Given the description of an element on the screen output the (x, y) to click on. 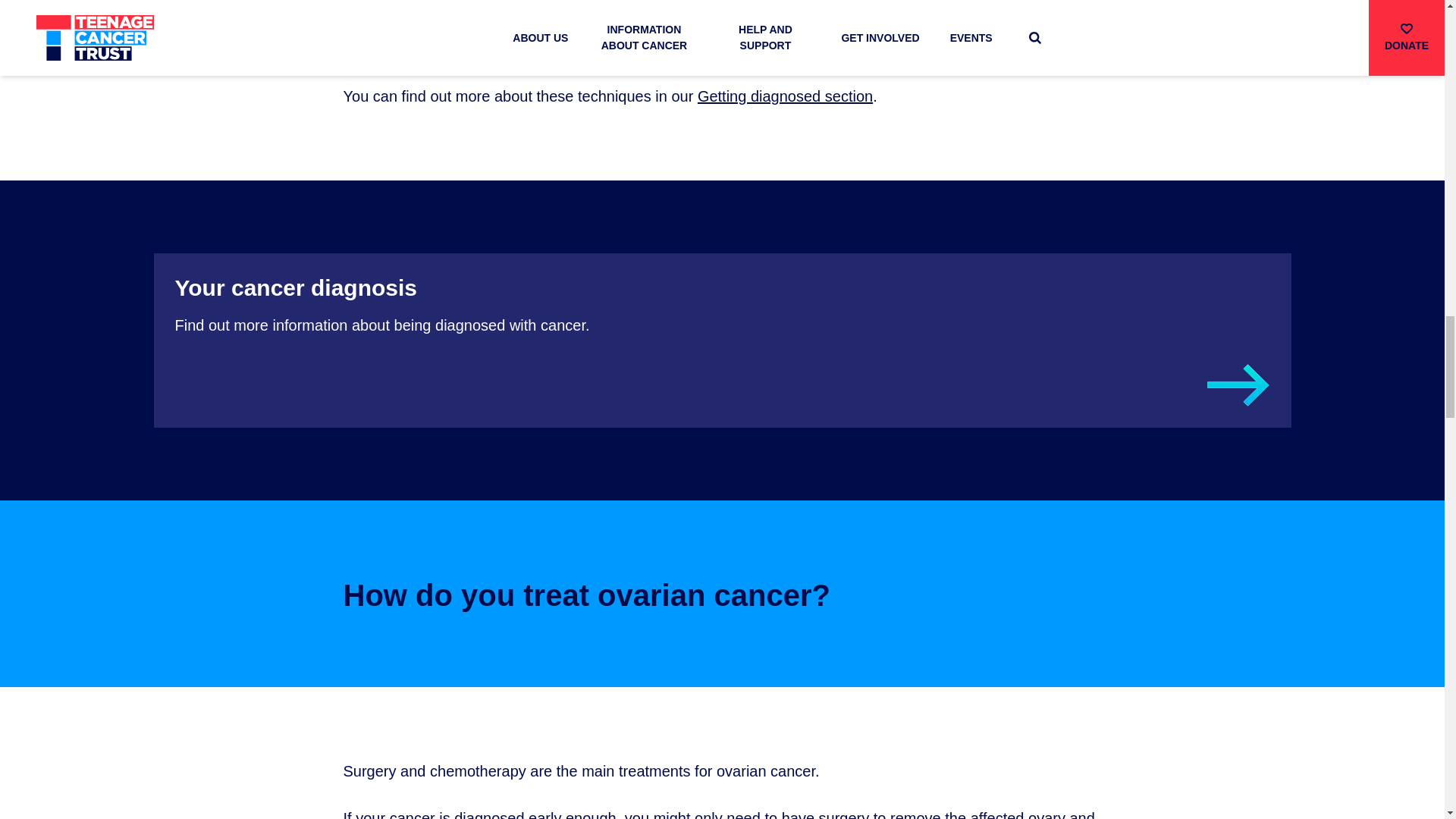
Your cancer diagnosis (784, 95)
